Given the description of an element on the screen output the (x, y) to click on. 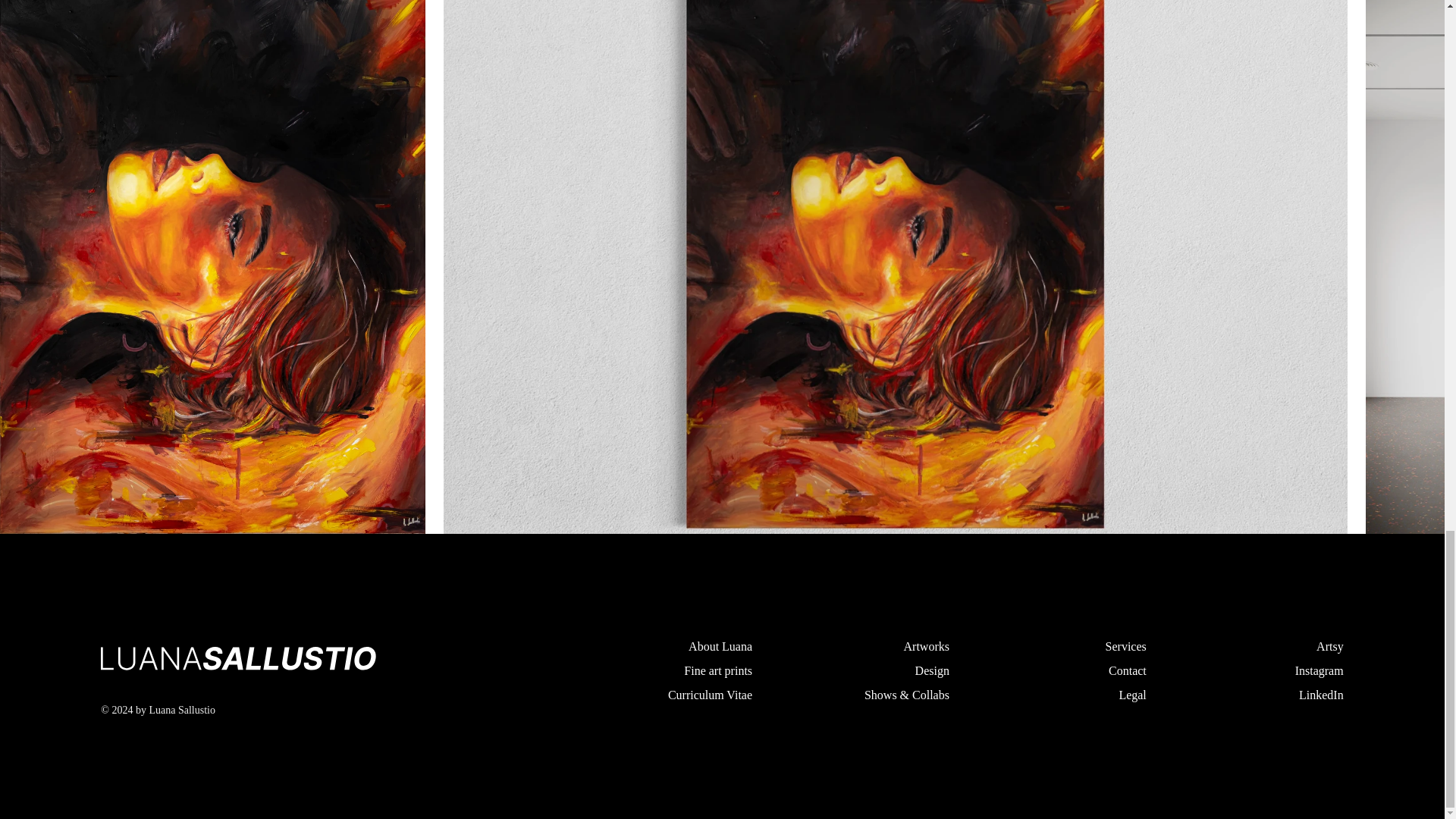
Design (932, 670)
Contact (1127, 670)
About Luana (720, 645)
Instagram (1319, 670)
Services (1126, 645)
Legal (1131, 694)
Artsy (1329, 645)
Fine art prints (718, 670)
Artworks (926, 645)
LinkedIn (1320, 694)
Curriculum Vitae (710, 694)
